Given the description of an element on the screen output the (x, y) to click on. 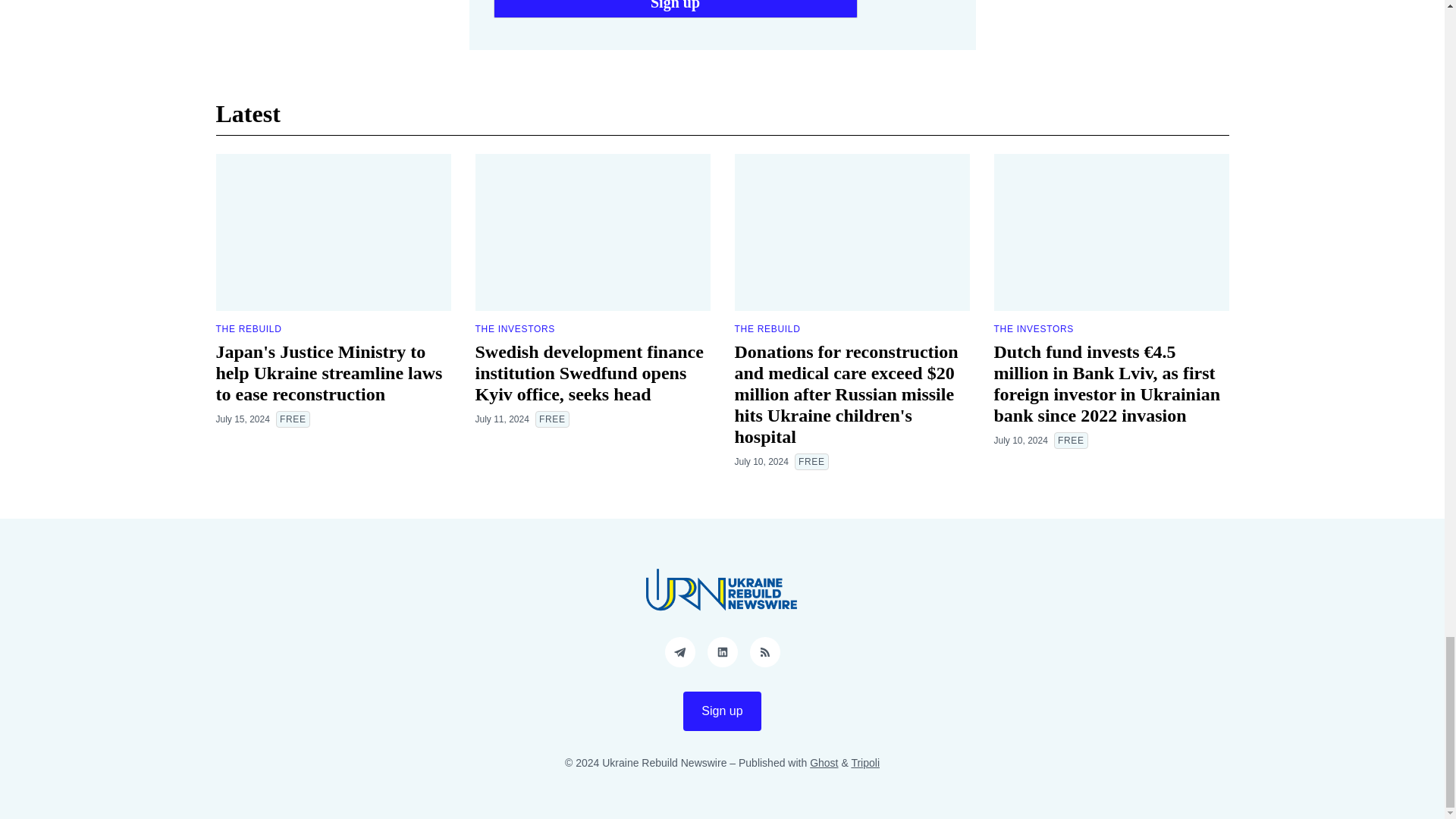
THE REBUILD (248, 328)
THE INVESTORS (514, 328)
Sign up (675, 9)
THE REBUILD (766, 328)
